Given the description of an element on the screen output the (x, y) to click on. 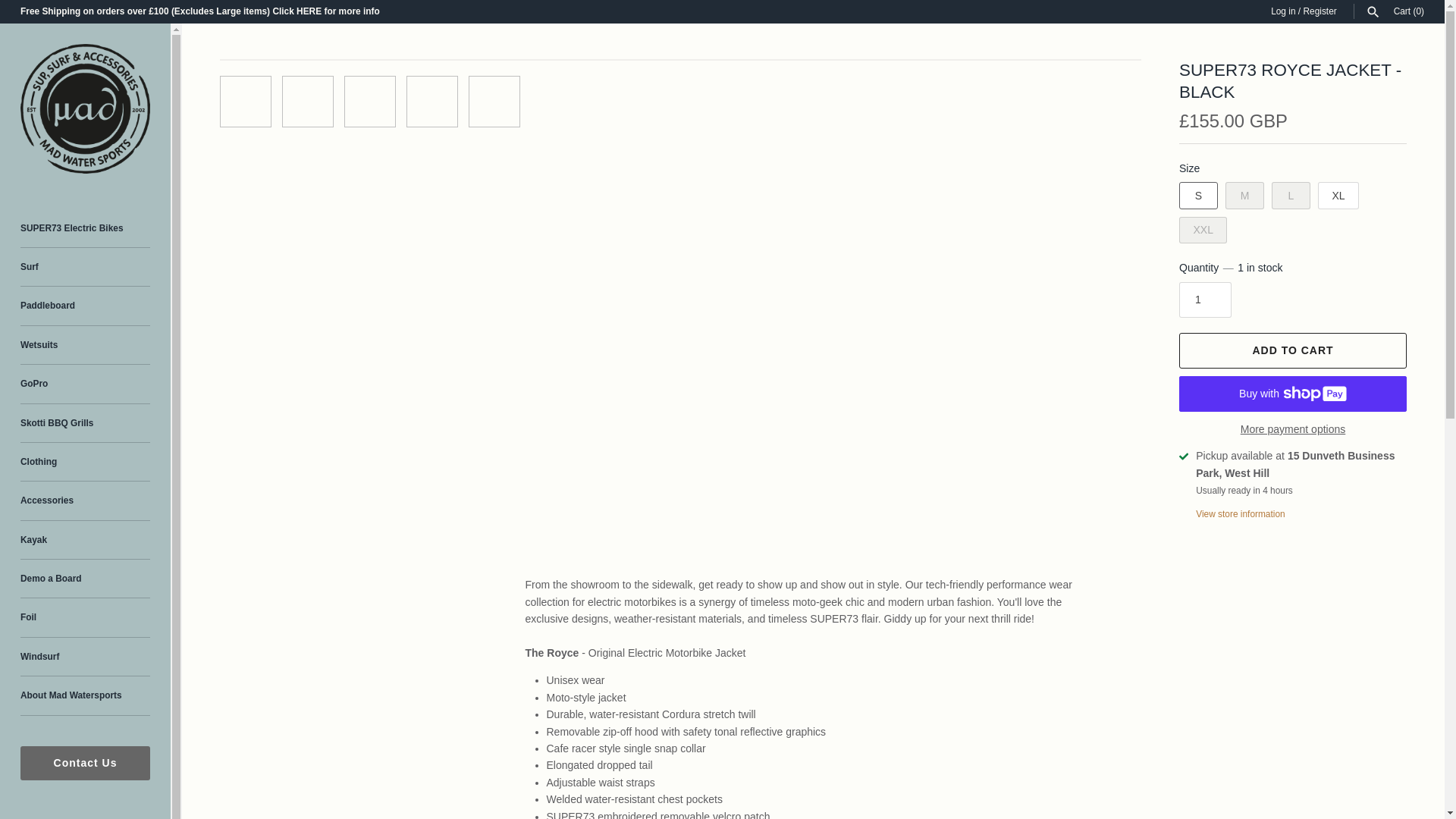
Log in (1283, 10)
MAD Water Sports (85, 108)
SUPER73 Electric Bikes (84, 228)
Surf (84, 267)
Register (1319, 10)
1 (1205, 299)
